Given the description of an element on the screen output the (x, y) to click on. 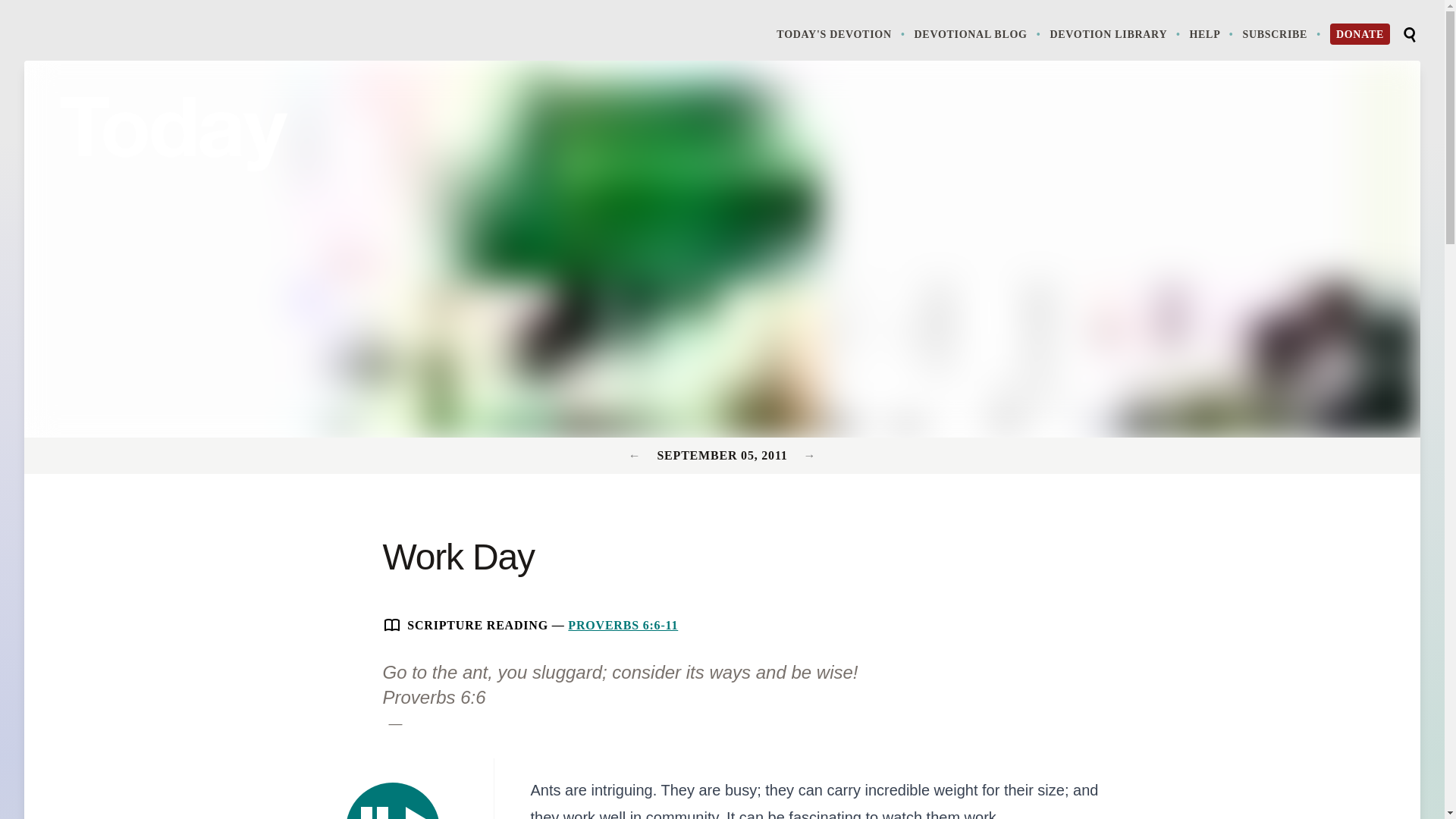
DEVOTIONAL BLOG (978, 34)
PROVERBS 6:6-11 (622, 625)
DONATE (1360, 34)
TODAY'S DEVOTION (392, 800)
Proverbs 6:6 (841, 34)
HELP (432, 697)
Previous Devotion: September 04, 2011 (1212, 34)
Previous Devotion: September 05, 2011 (636, 454)
Search (809, 454)
